Given the description of an element on the screen output the (x, y) to click on. 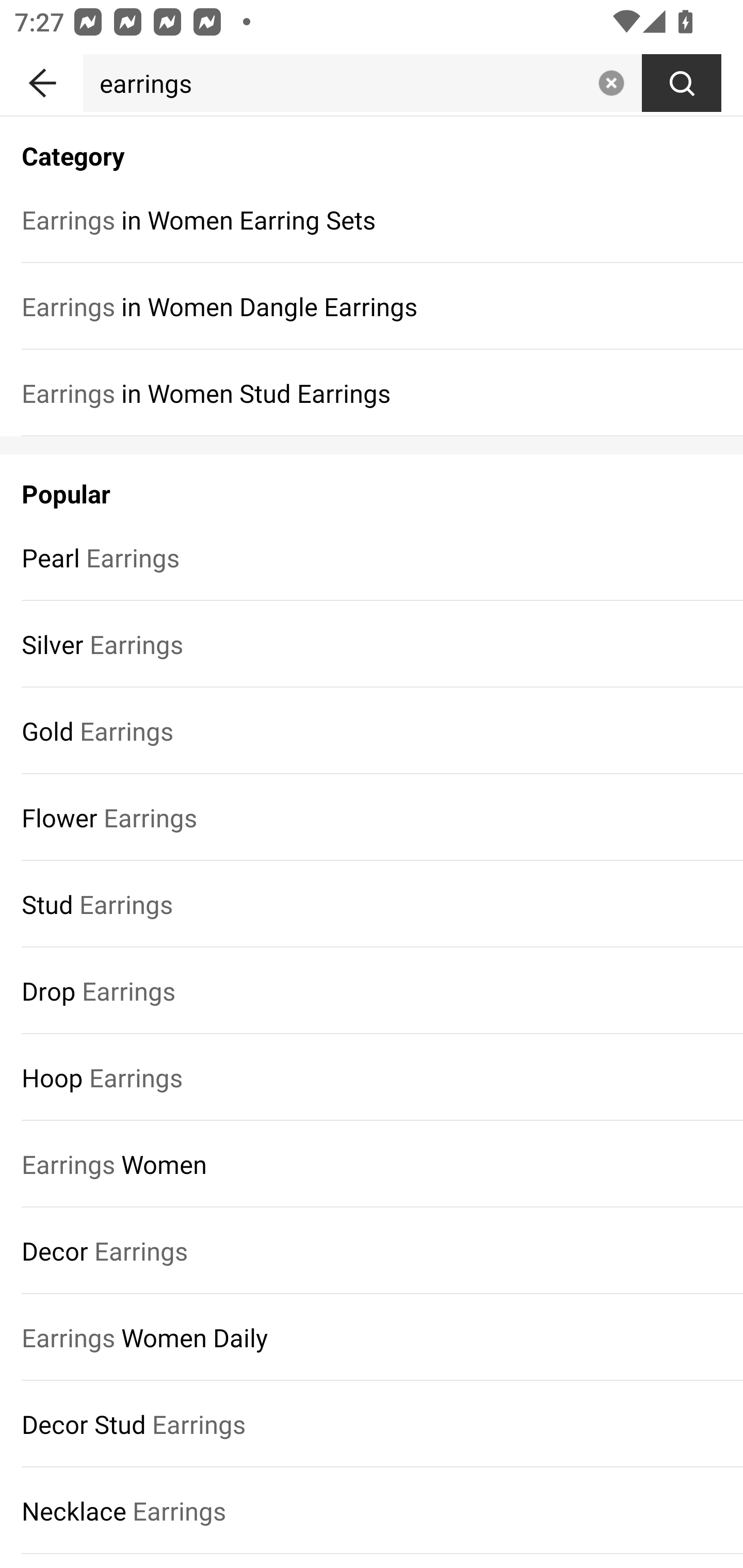
BACK (41, 79)
earrings (336, 82)
Clear (610, 82)
Category (371, 145)
Earrings in Women Earring Sets (371, 219)
Earrings in Women Dangle Earrings (371, 306)
Earrings in Women Stud Earrings (371, 392)
Popular (371, 484)
Pearl Earrings (371, 557)
Silver Earrings (371, 643)
Gold Earrings (371, 730)
Flower Earrings (371, 817)
Stud Earrings (371, 903)
Drop Earrings (371, 990)
Hoop Earrings (371, 1077)
Earrings Women (371, 1164)
Decor Earrings (371, 1250)
Earrings Women Daily (371, 1337)
Decor Stud Earrings (371, 1424)
Necklace Earrings (371, 1510)
